Given the description of an element on the screen output the (x, y) to click on. 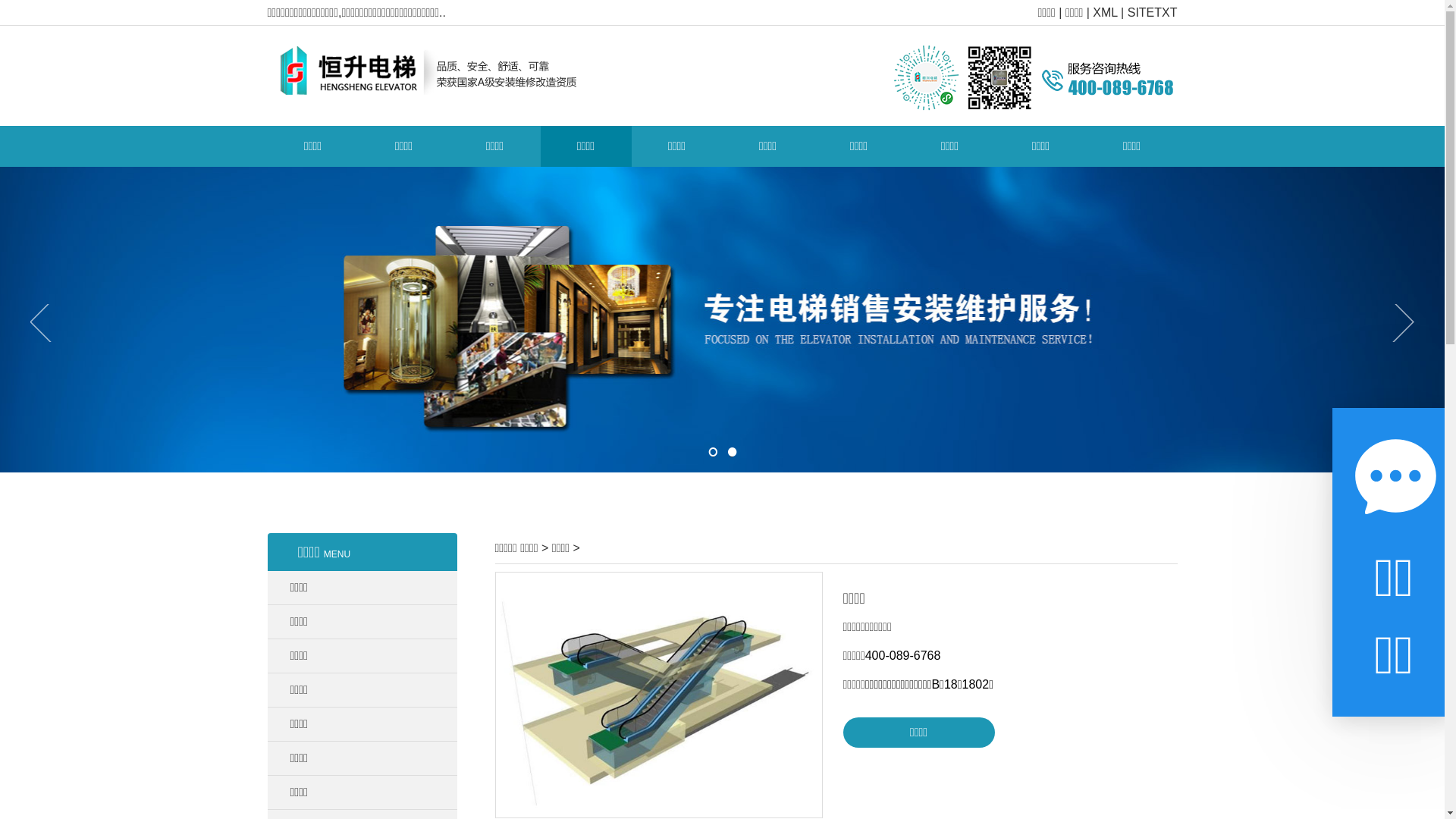
1 Element type: text (713, 451)
2 Element type: text (731, 451)
XML Element type: text (1104, 12)
SITETXT Element type: text (1152, 12)
